Given the description of an element on the screen output the (x, y) to click on. 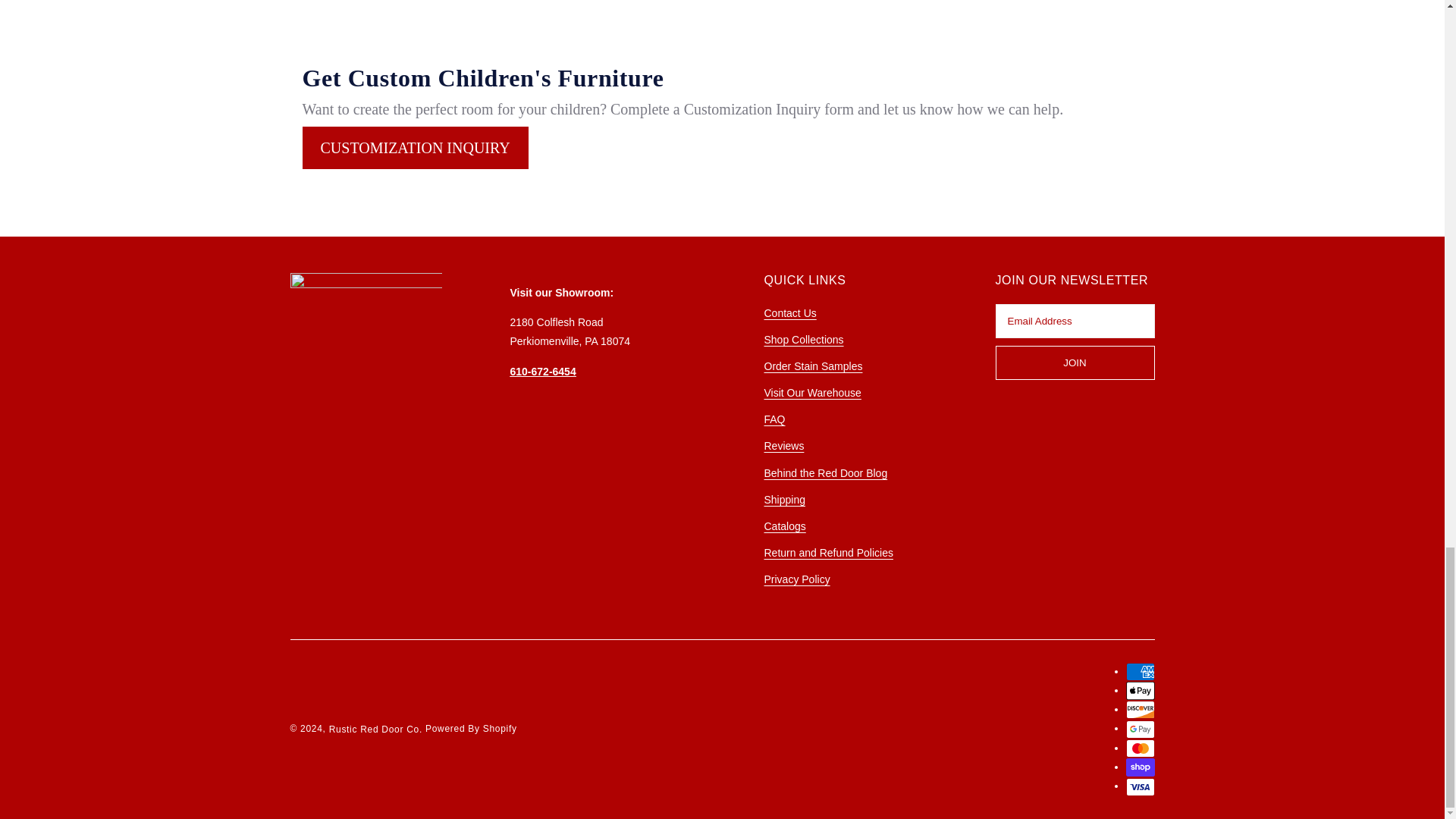
Discover (1139, 710)
Shop Pay (1139, 767)
tel:6106726454 (542, 371)
Apple Pay (1139, 690)
Visa (1139, 787)
Google Pay (1139, 729)
American Express (1139, 671)
Mastercard (1139, 748)
